Given the description of an element on the screen output the (x, y) to click on. 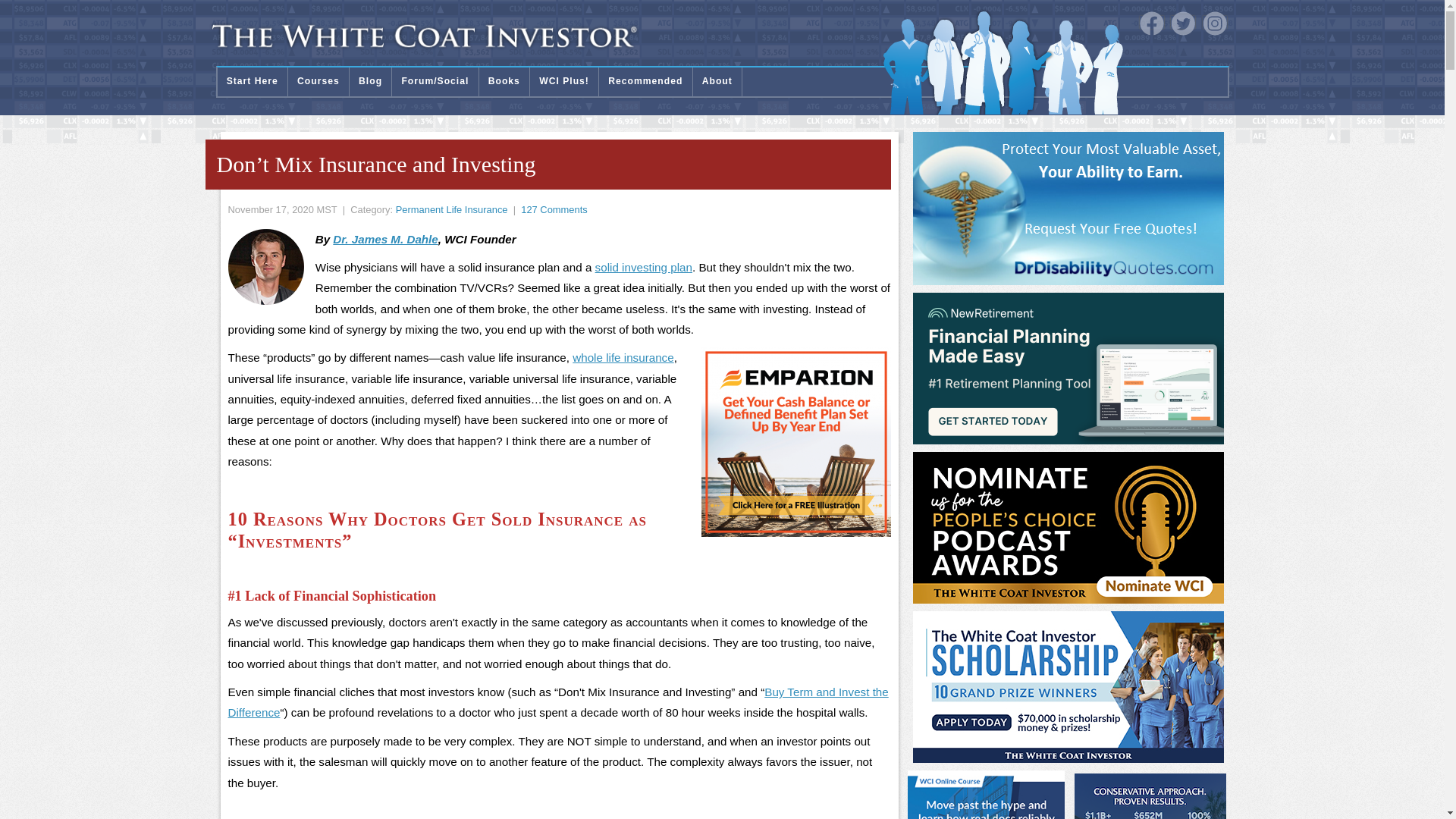
Blog (370, 81)
Courses (318, 81)
Facebook (1151, 23)
Instagram (1214, 23)
Books (504, 81)
Twitter (1182, 23)
WCI Plus! (563, 81)
Mountain Standard Time (325, 209)
Start Here (251, 81)
